Given the description of an element on the screen output the (x, y) to click on. 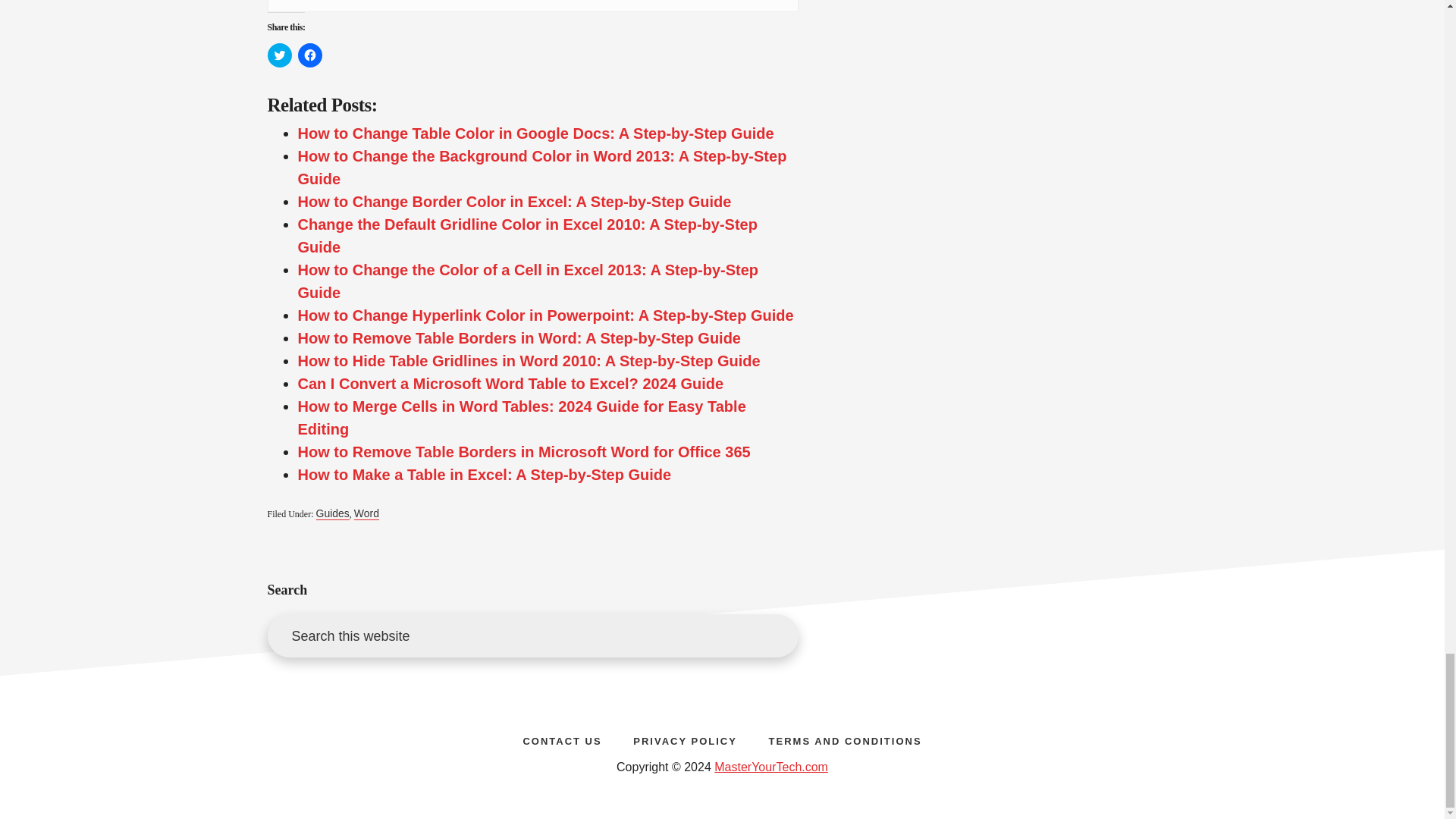
How to Change Border Color in Excel: A Step-by-Step Guide (513, 201)
How to Remove Table Borders in Word: A Step-by-Step Guide (519, 338)
Can I Convert a Microsoft Word Table to Excel? 2024 Guide (510, 383)
How to Remove Table Borders in Microsoft Word for Office 365 (523, 451)
Can I Convert a Microsoft Word Table to Excel? 2024 Guide (510, 383)
How to Make a Table in Excel: A Step-by-Step Guide (484, 474)
How to Remove Table Borders in Word: A Step-by-Step Guide (519, 338)
How to Change Border Color in Excel: A Step-by-Step Guide (513, 201)
